Given the description of an element on the screen output the (x, y) to click on. 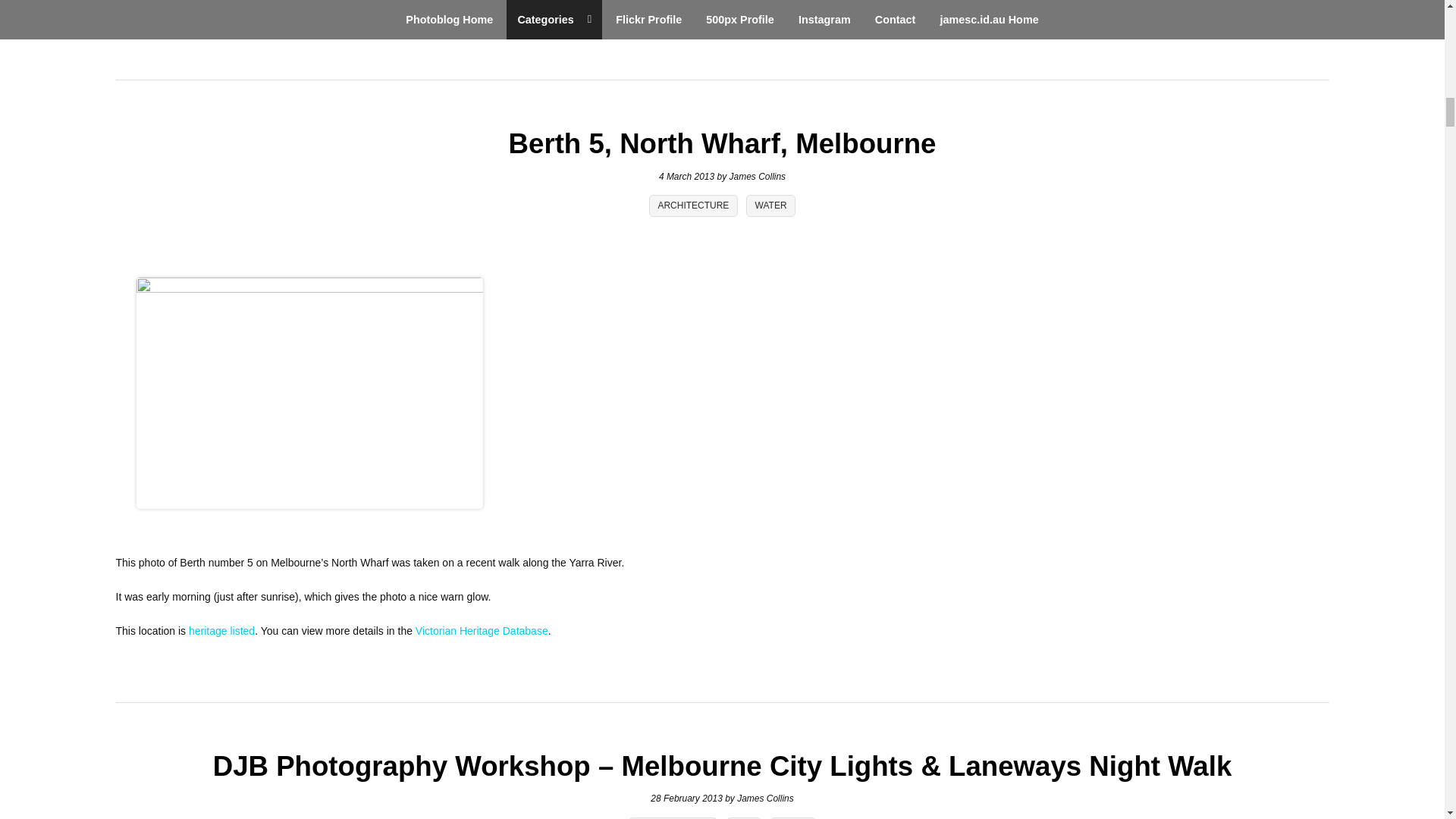
Posts by James Collins (757, 176)
Posts by James Collins (764, 798)
Berth 5, North Wharf, Melbourne (722, 142)
